Given the description of an element on the screen output the (x, y) to click on. 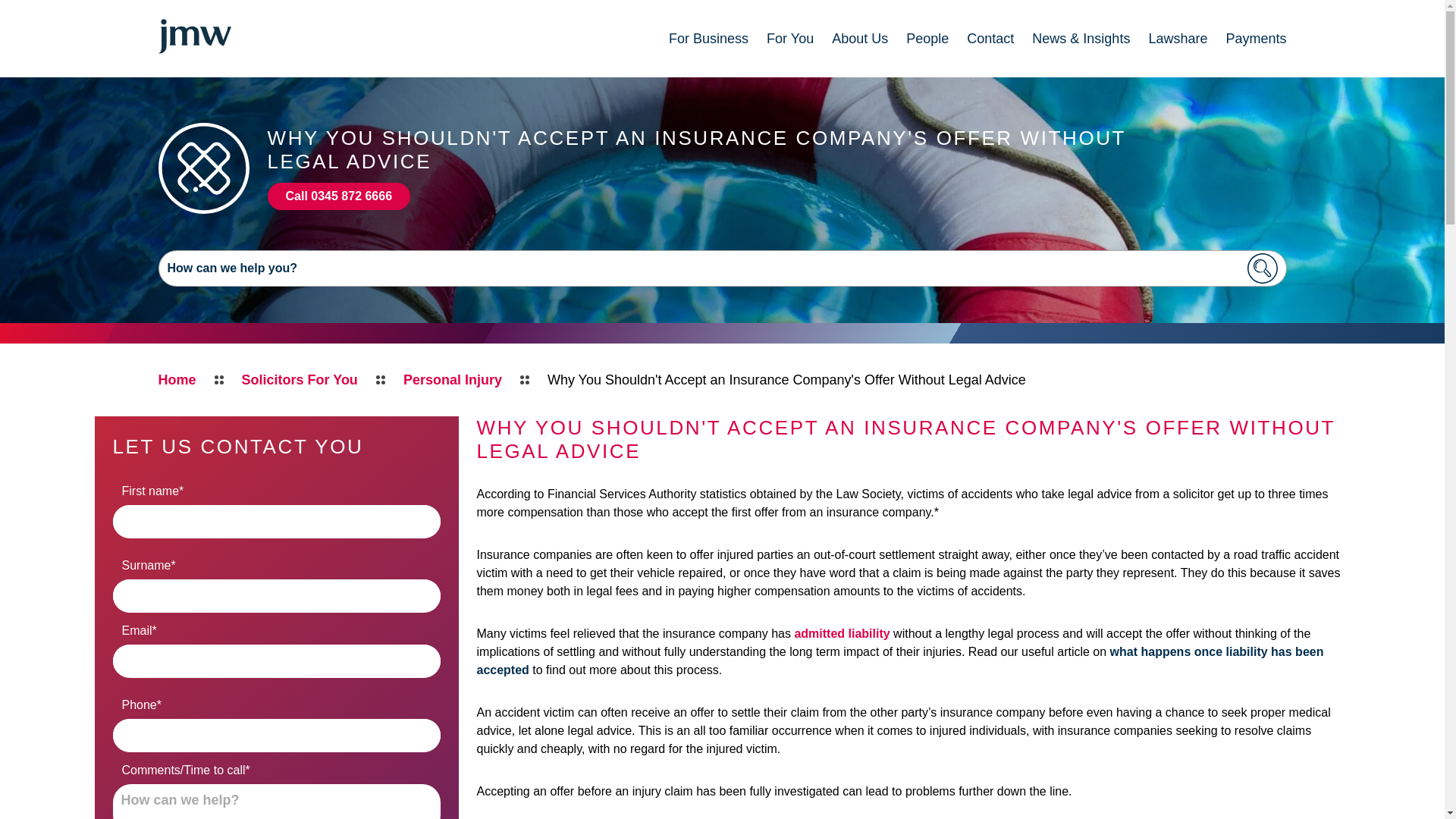
Payments (1255, 38)
admitted liability (841, 633)
For Business (708, 38)
Solicitors For You (299, 380)
Personal Injury (452, 380)
Home (176, 380)
Call 0345 872 6666 (338, 195)
what happens once liability has been accepted (899, 660)
Submit the search query (1261, 268)
People (927, 38)
Contact (989, 38)
For You (790, 38)
Lawshare (1177, 38)
About Us (859, 38)
